Given the description of an element on the screen output the (x, y) to click on. 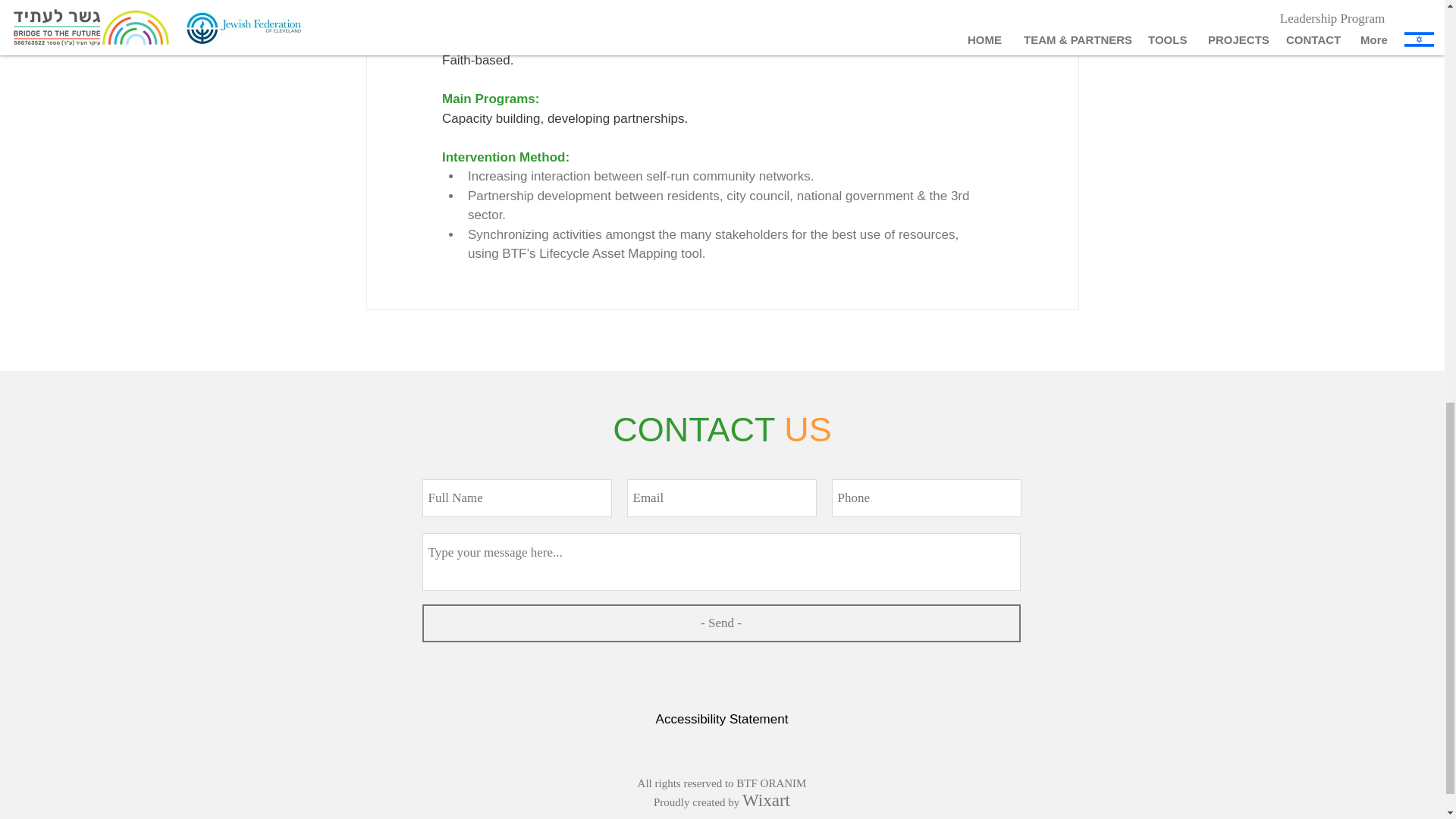
Wixart (766, 801)
Accessibility Statement (722, 719)
- Send - (721, 623)
